Given the description of an element on the screen output the (x, y) to click on. 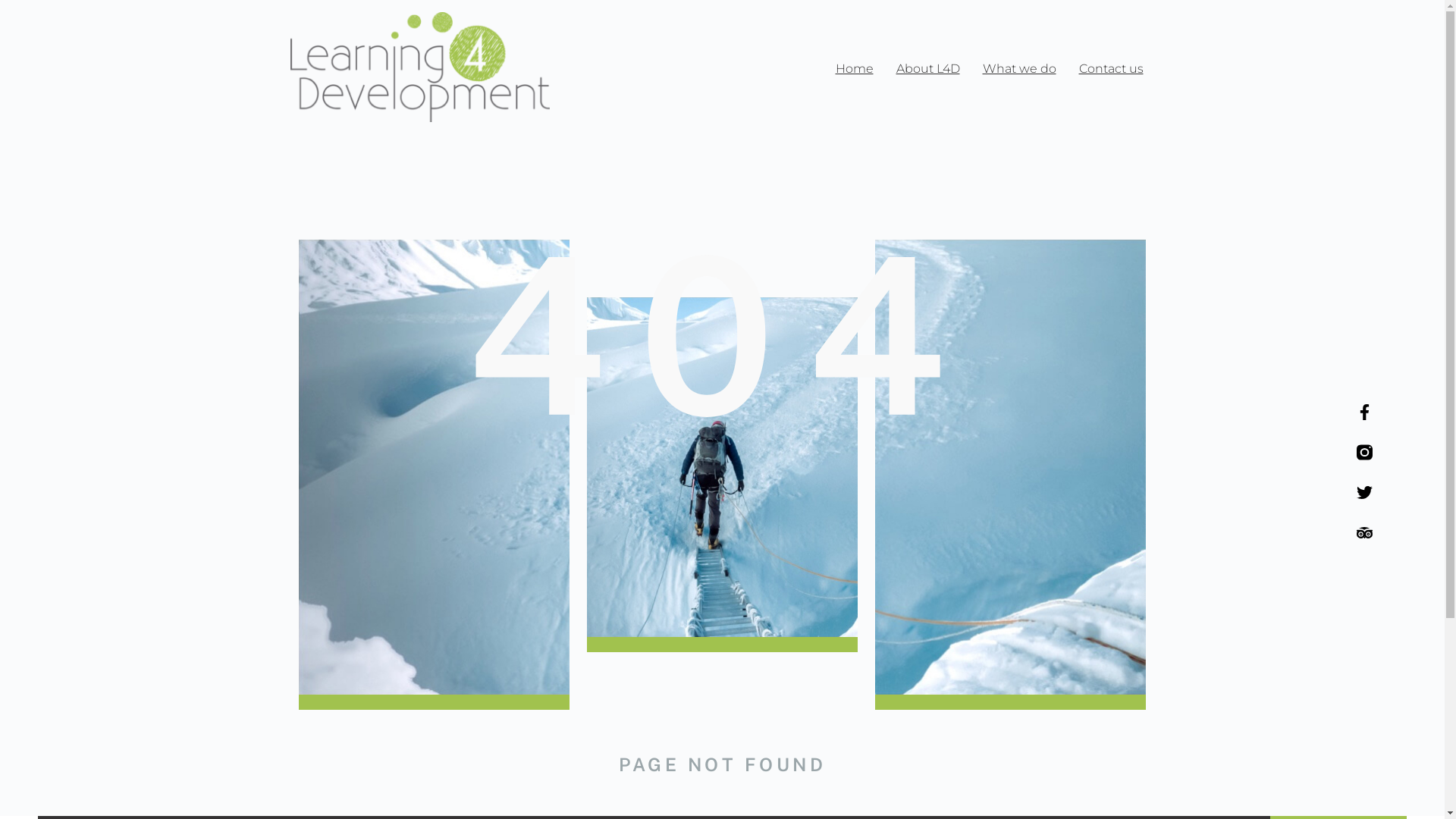
Home Element type: text (853, 68)
About L4D Element type: text (927, 68)
Contact us Element type: text (1110, 68)
Home Element type: text (722, 161)
What we do Element type: text (1018, 68)
